Given the description of an element on the screen output the (x, y) to click on. 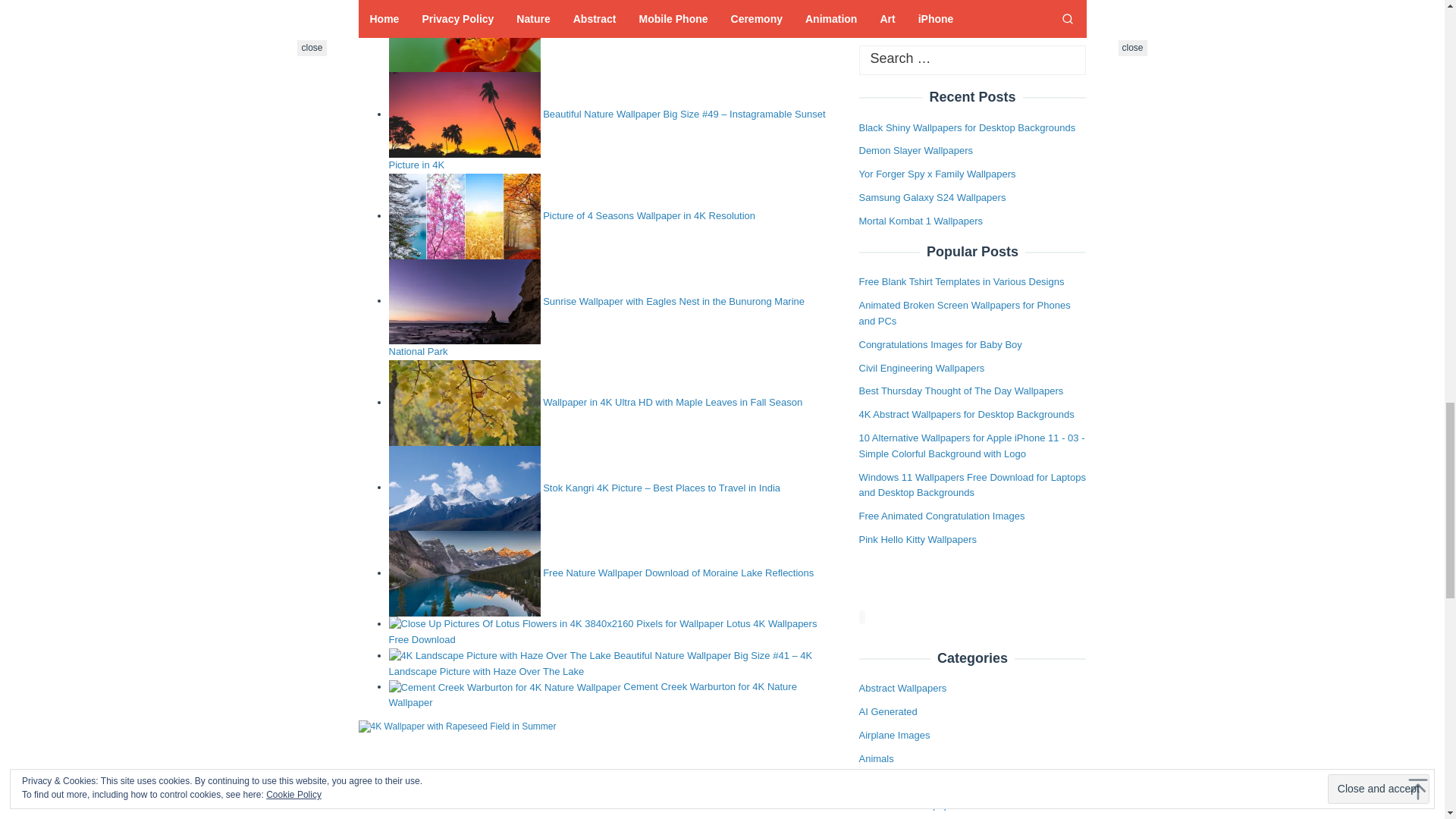
4K Macro Photo with Close Up Flower (626, 29)
Wallpaper in 4K Ultra HD with Maple Leaves in Fall Season (672, 401)
Stok Kangri - Best Place to Travel in India (464, 488)
Free download of 4k macro photo with close up-flower (464, 36)
Free Nature Wallpaper Download of Moraine Lake Reflections (678, 572)
Picture of 4 Seasons Wallpaper in 4K Resolution (649, 215)
Lotus 4K Wallpapers Free Download (602, 631)
